Given the description of an element on the screen output the (x, y) to click on. 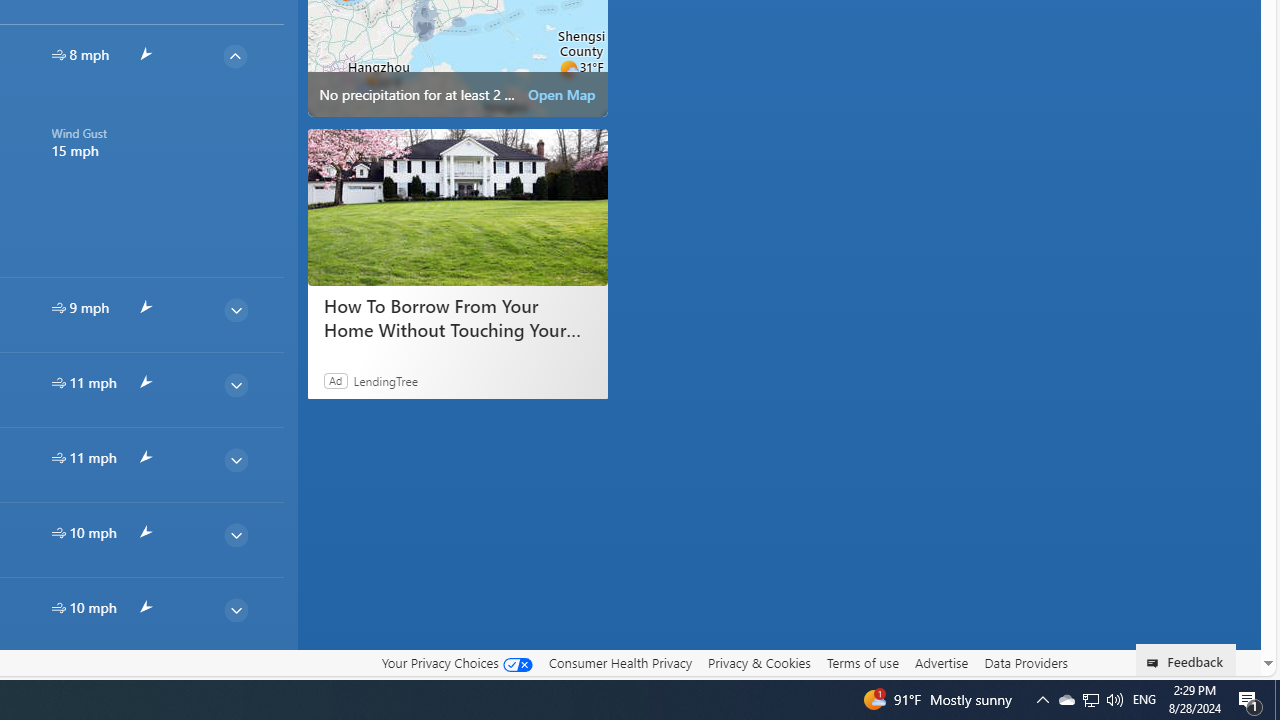
Open Map (561, 94)
Class: feedback_link_icon-DS-EntryPoint1-1 (1156, 663)
How To Borrow From Your Home Without Touching Your Mortgage (457, 206)
Your Privacy Choices (456, 663)
Data Providers (1025, 662)
Consumer Health Privacy (619, 662)
common/arrow (144, 682)
Terms of use (861, 663)
Terms of use (861, 662)
hourlyTable/wind (58, 607)
How To Borrow From Your Home Without Touching Your Mortgage (456, 317)
Consumer Health Privacy (619, 663)
LendingTree (385, 380)
